Given the description of an element on the screen output the (x, y) to click on. 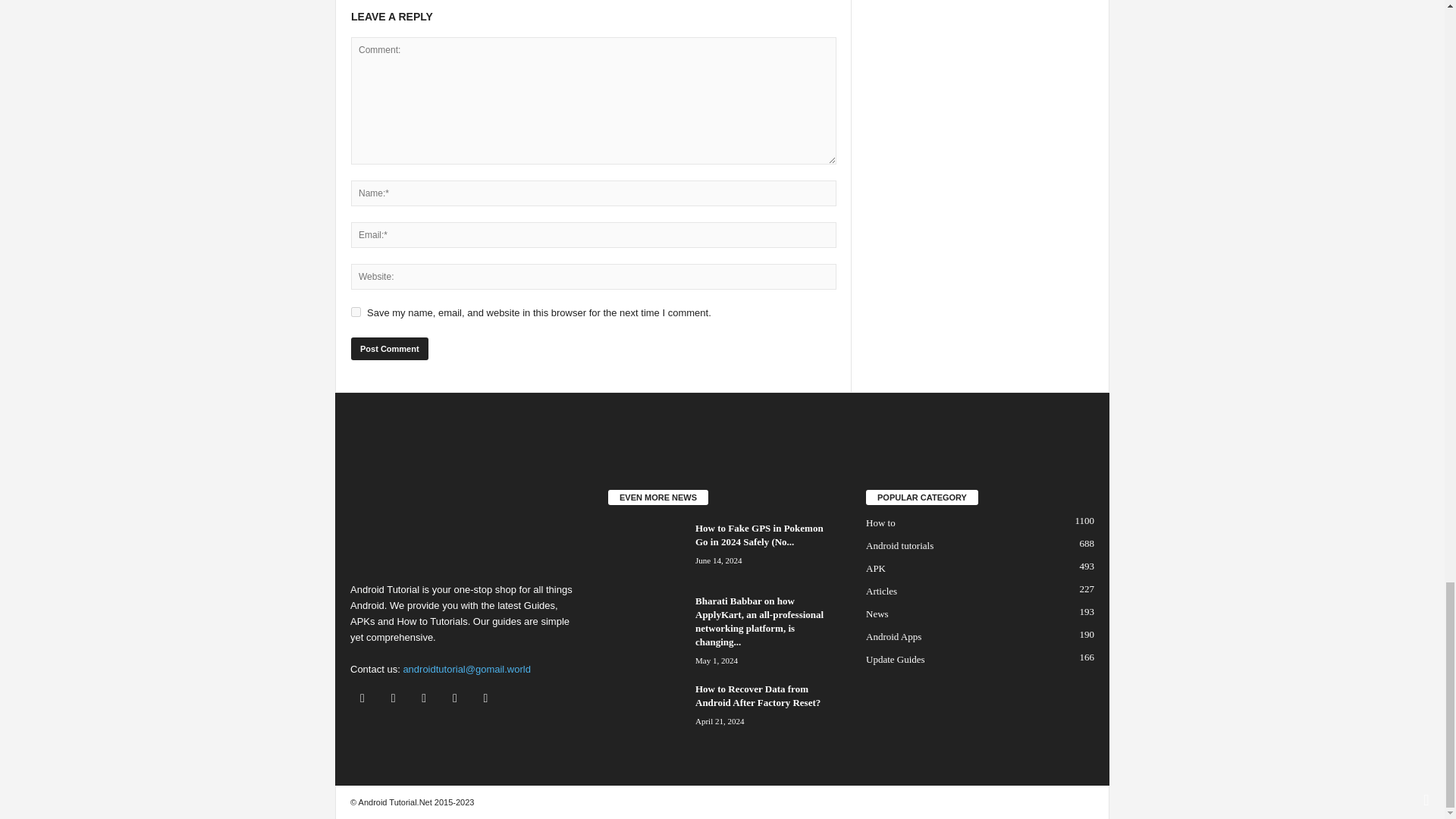
yes (355, 311)
Post Comment (389, 347)
